Given the description of an element on the screen output the (x, y) to click on. 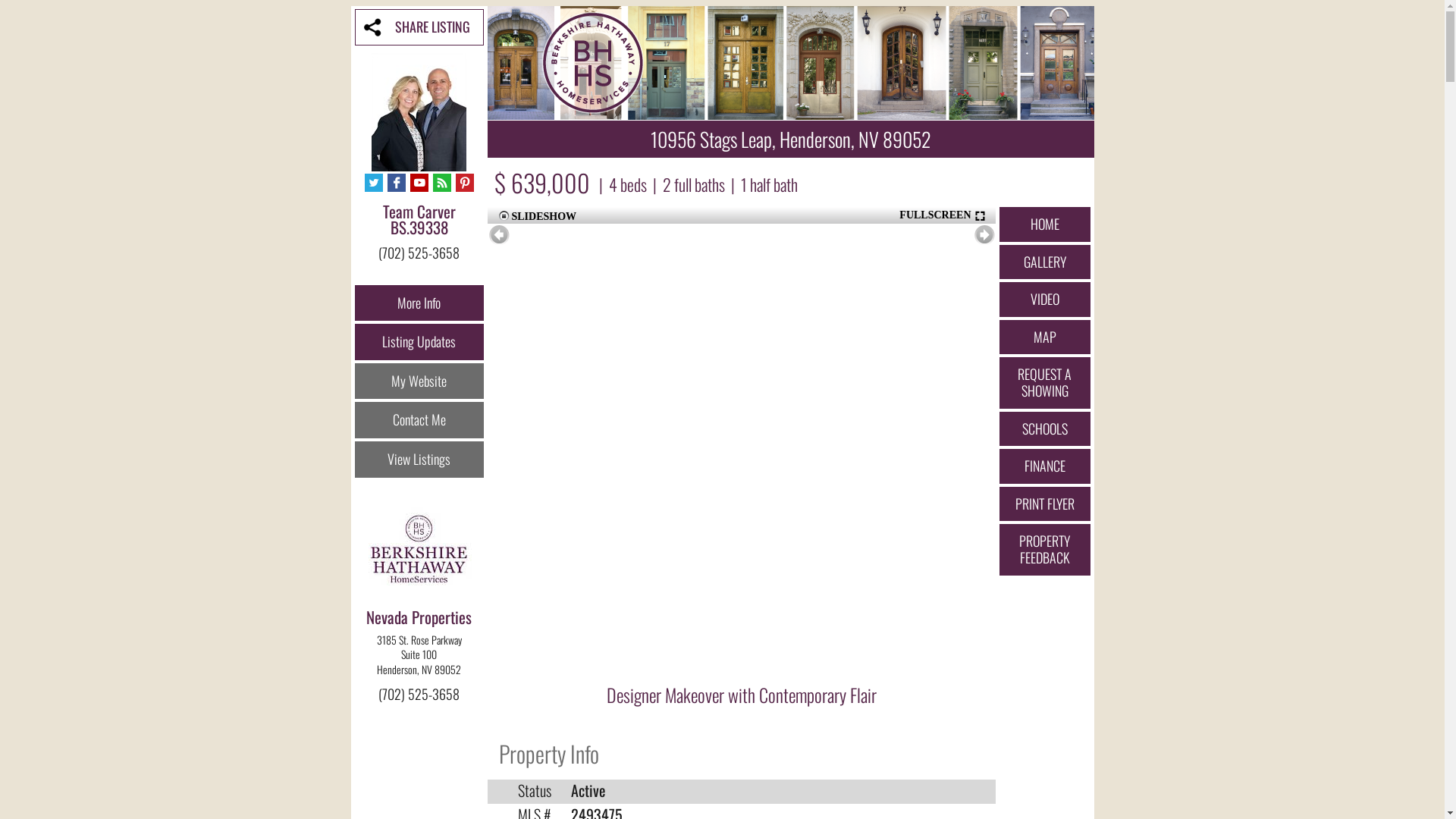
More Info Element type: text (418, 303)
Team Carver
BS.39338 Element type: text (418, 227)
HOME Element type: text (1044, 224)
SCHOOLS Element type: text (1044, 428)
Nevada Properties Element type: text (418, 616)
My Website Element type: text (418, 381)
SHARE LISTING Element type: text (418, 27)
PROPERTY FEEDBACK Element type: text (1044, 549)
View Listings Element type: text (418, 459)
REQUEST A SHOWING Element type: text (1044, 382)
Listing Updates Element type: text (418, 341)
PRINT FLYER Element type: text (1044, 503)
MAP Element type: text (1044, 337)
VIDEO Element type: text (1044, 299)
Contact Me Element type: text (418, 419)
GALLERY Element type: text (1044, 261)
FINANCE Element type: text (1044, 465)
